Given the description of an element on the screen output the (x, y) to click on. 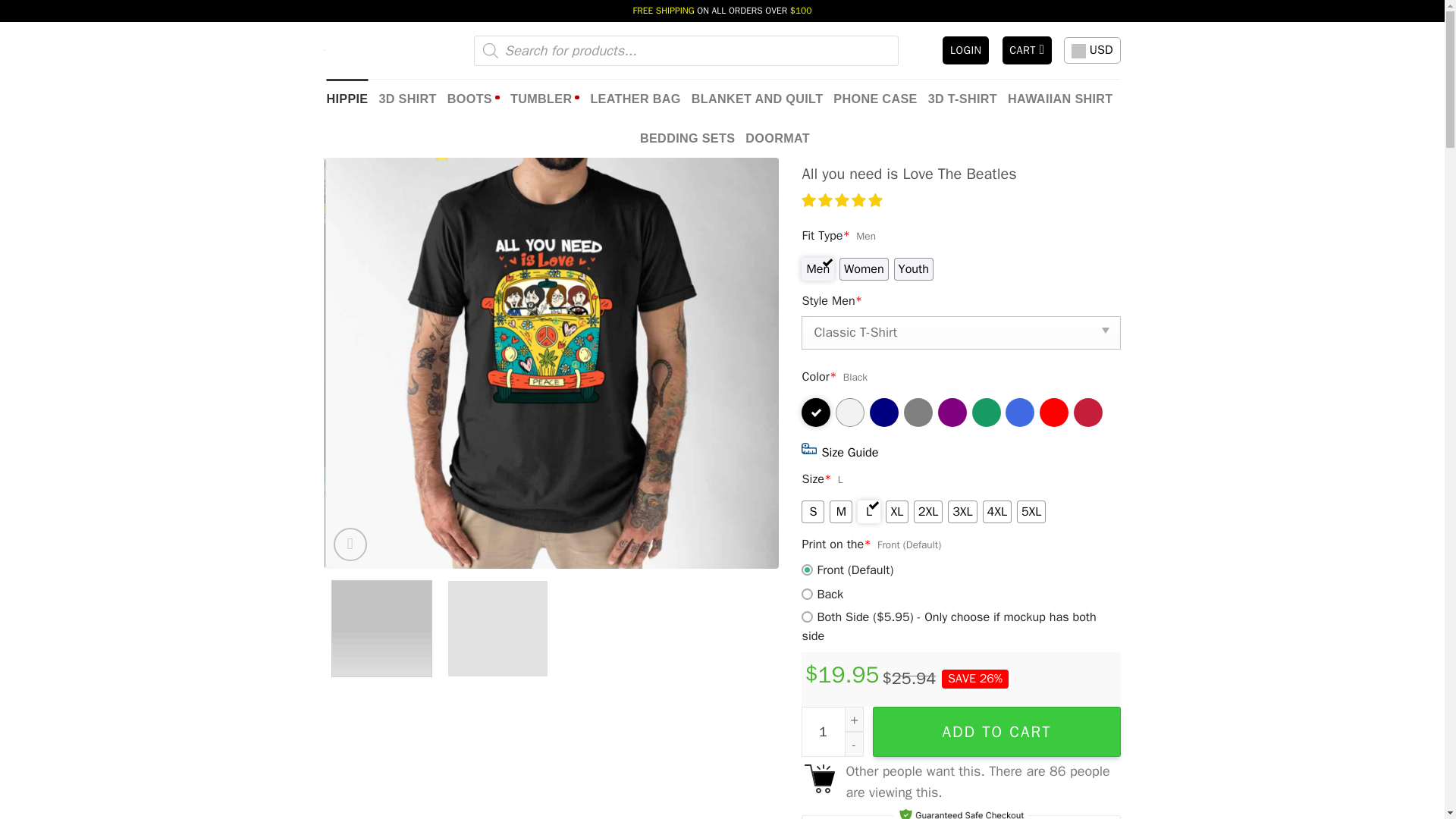
BLANKET AND QUILT (757, 97)
CART (1027, 50)
BOOTS (472, 97)
Size Guide (849, 452)
Women (864, 268)
Cart (1027, 50)
HAWAIIAN SHIRT (1060, 97)
Men (818, 268)
3D SHIRT (406, 97)
DOORMAT (777, 137)
TUMBLER (545, 97)
1 (832, 731)
Zoom (349, 544)
BEDDING SETS (687, 137)
